Given the description of an element on the screen output the (x, y) to click on. 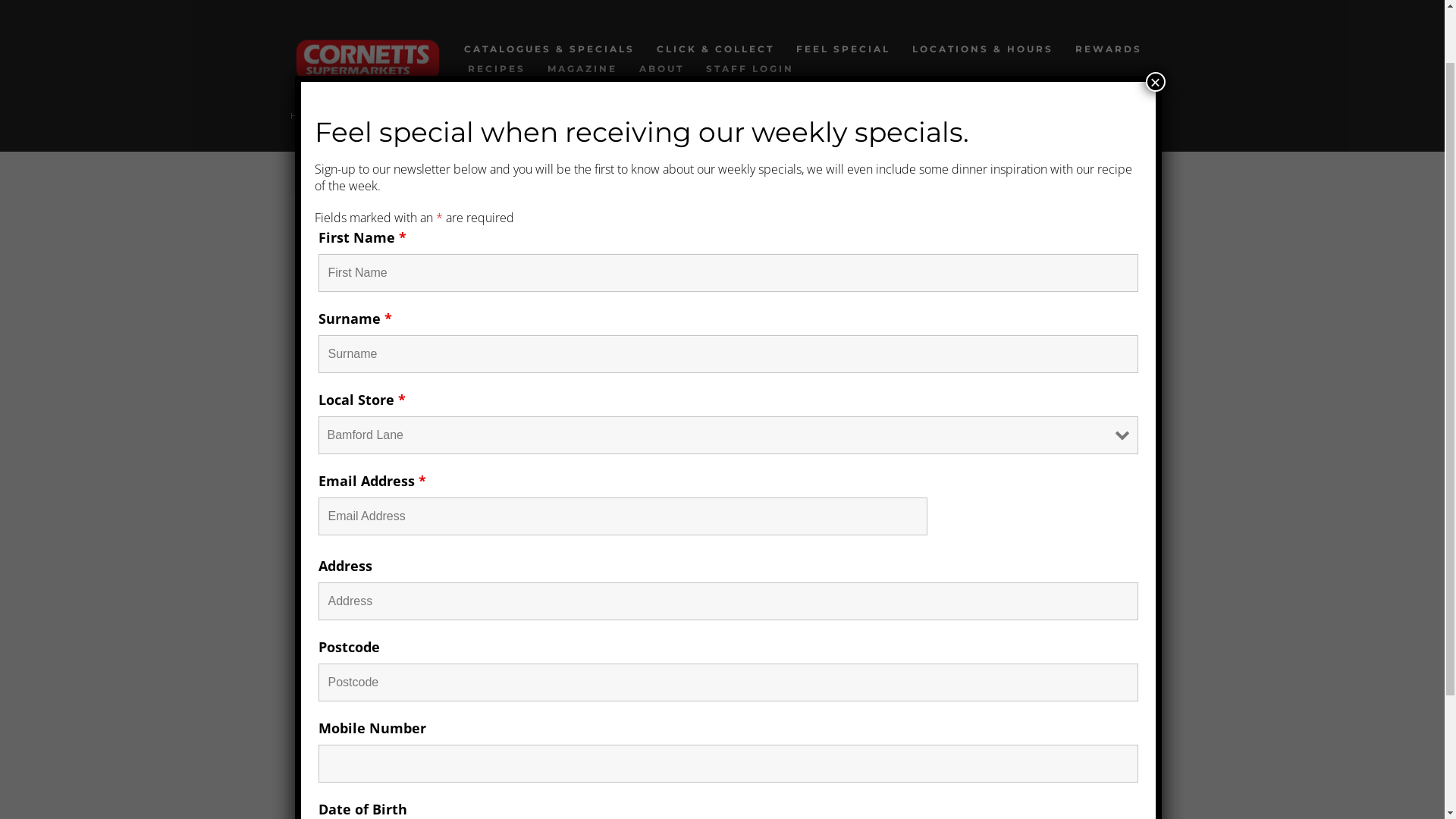
FEEL SPECIAL Element type: text (843, 49)
RECIPES Element type: text (496, 68)
STAFF LOGIN Element type: text (749, 68)
RECIPES Element type: text (344, 115)
MAGAZINE Element type: text (582, 68)
HOME Element type: text (301, 115)
REWARDS Element type: text (1108, 49)
CLICK & COLLECT Element type: text (715, 49)
RECIPES Element type: text (528, 255)
ABOUT Element type: text (661, 68)
Greek Salad Element type: hover (494, 467)
LOCATIONS & HOURS Element type: text (982, 49)
CATALOGUES & SPECIALS Element type: text (549, 49)
